Given the description of an element on the screen output the (x, y) to click on. 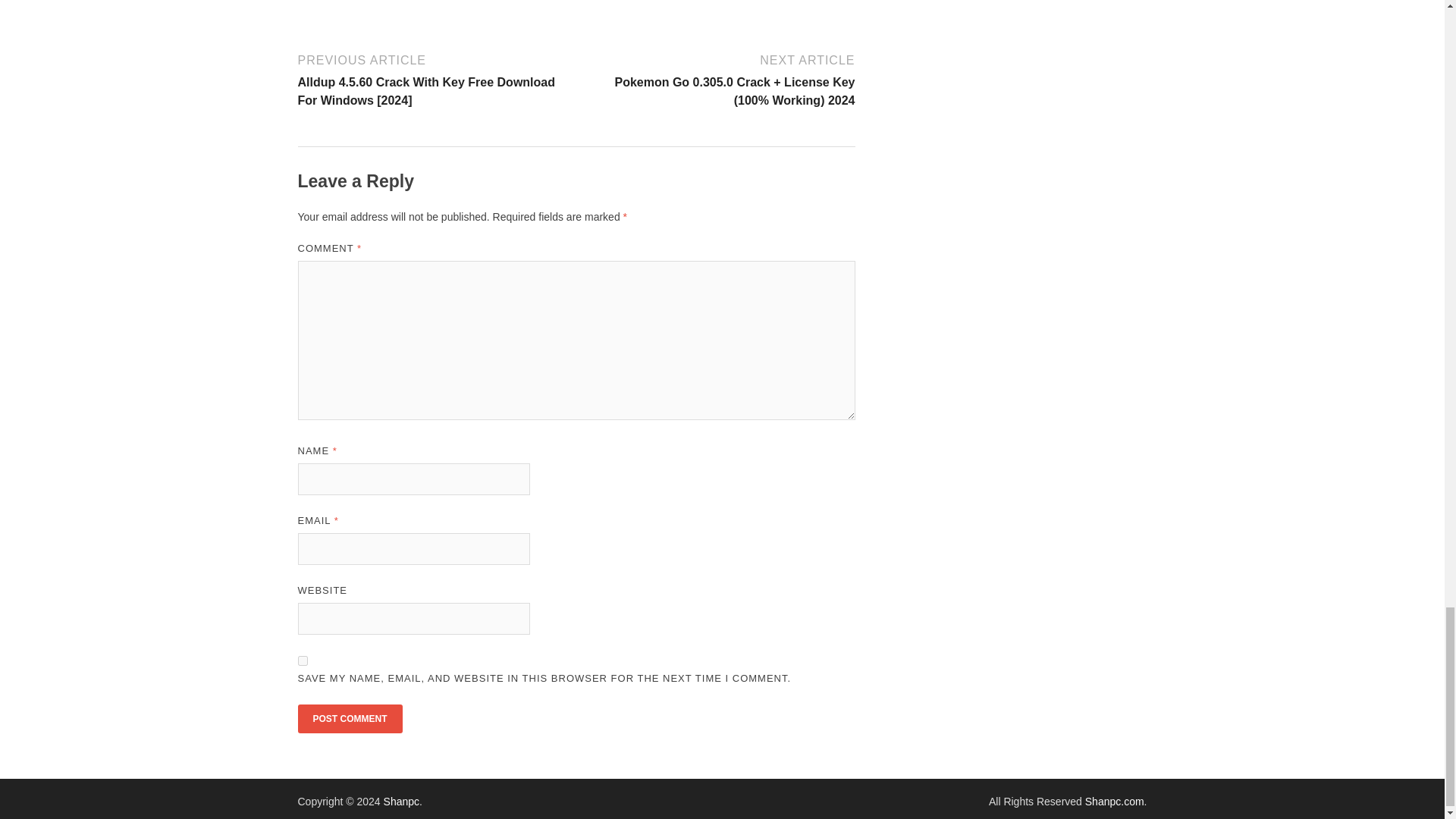
yes (302, 660)
Shanpc (401, 801)
Shanpc.com (1114, 801)
Post Comment (349, 718)
